Given the description of an element on the screen output the (x, y) to click on. 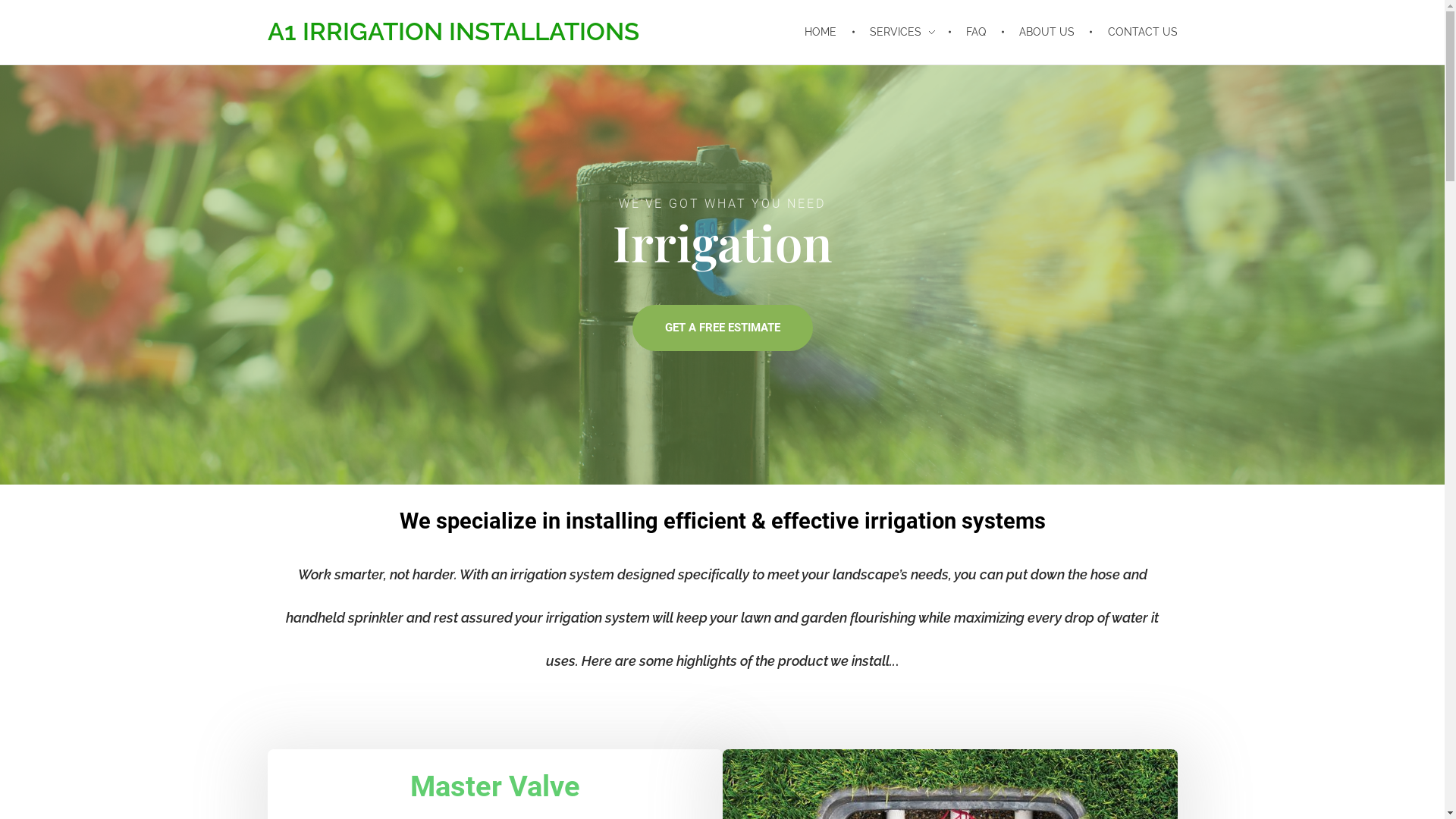
GET A FREE ESTIMATE Element type: text (722, 327)
SERVICES Element type: text (904, 32)
FAQ Element type: text (978, 32)
A1 IRRIGATION INSTALLATIONS Element type: text (452, 31)
CONTACT US Element type: text (1134, 32)
HOME Element type: text (829, 32)
ABOUT US Element type: text (1048, 32)
